Given the description of an element on the screen output the (x, y) to click on. 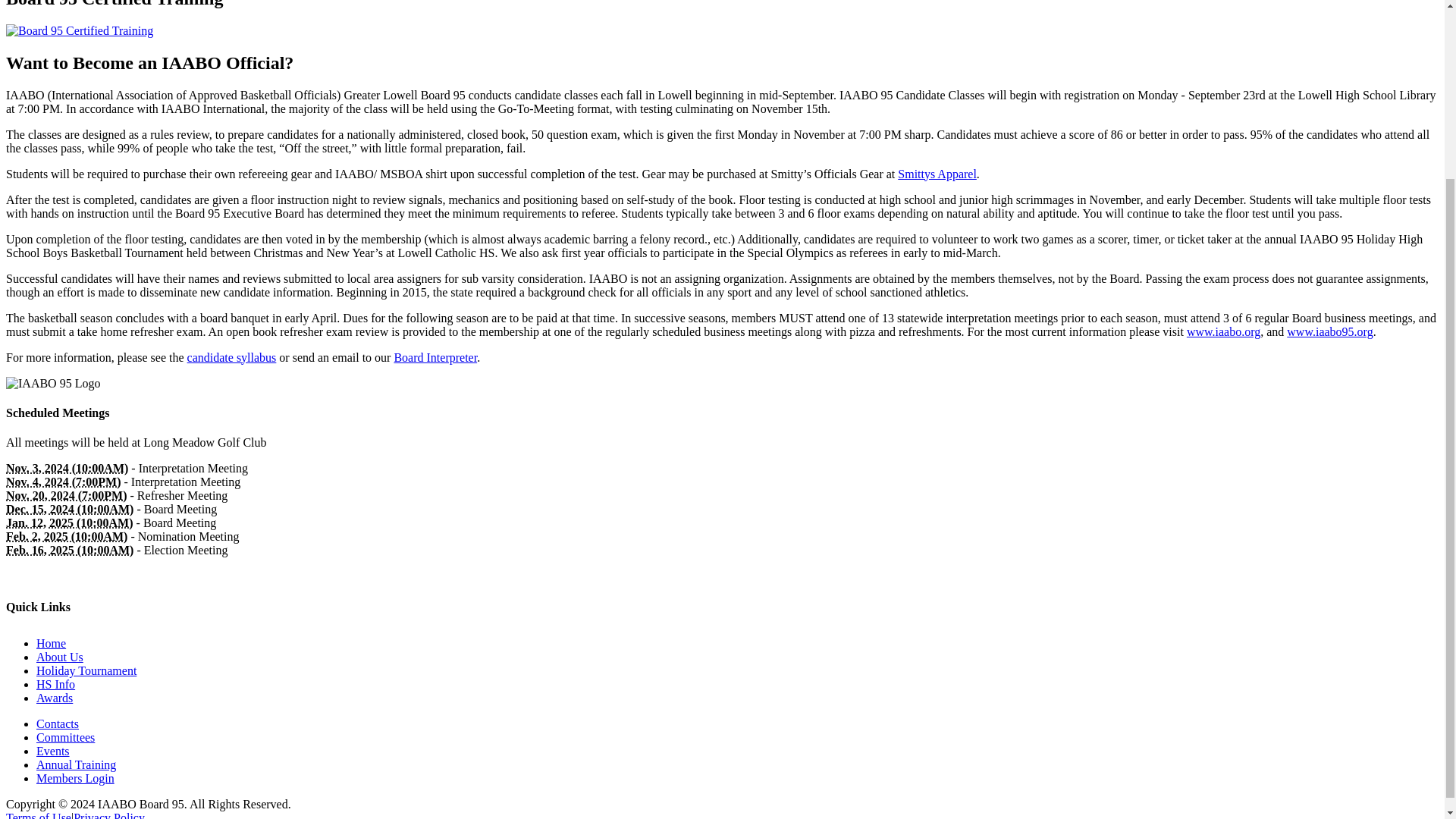
Committees (65, 737)
Holiday Tournament (86, 670)
www.iaabo95.org (1330, 331)
Nomination Meeting (66, 535)
Awards (54, 697)
www.iaabo.org (1223, 331)
Events (52, 750)
Annual Training (76, 764)
Board Interpreter (435, 357)
Members Login (75, 778)
